Given the description of an element on the screen output the (x, y) to click on. 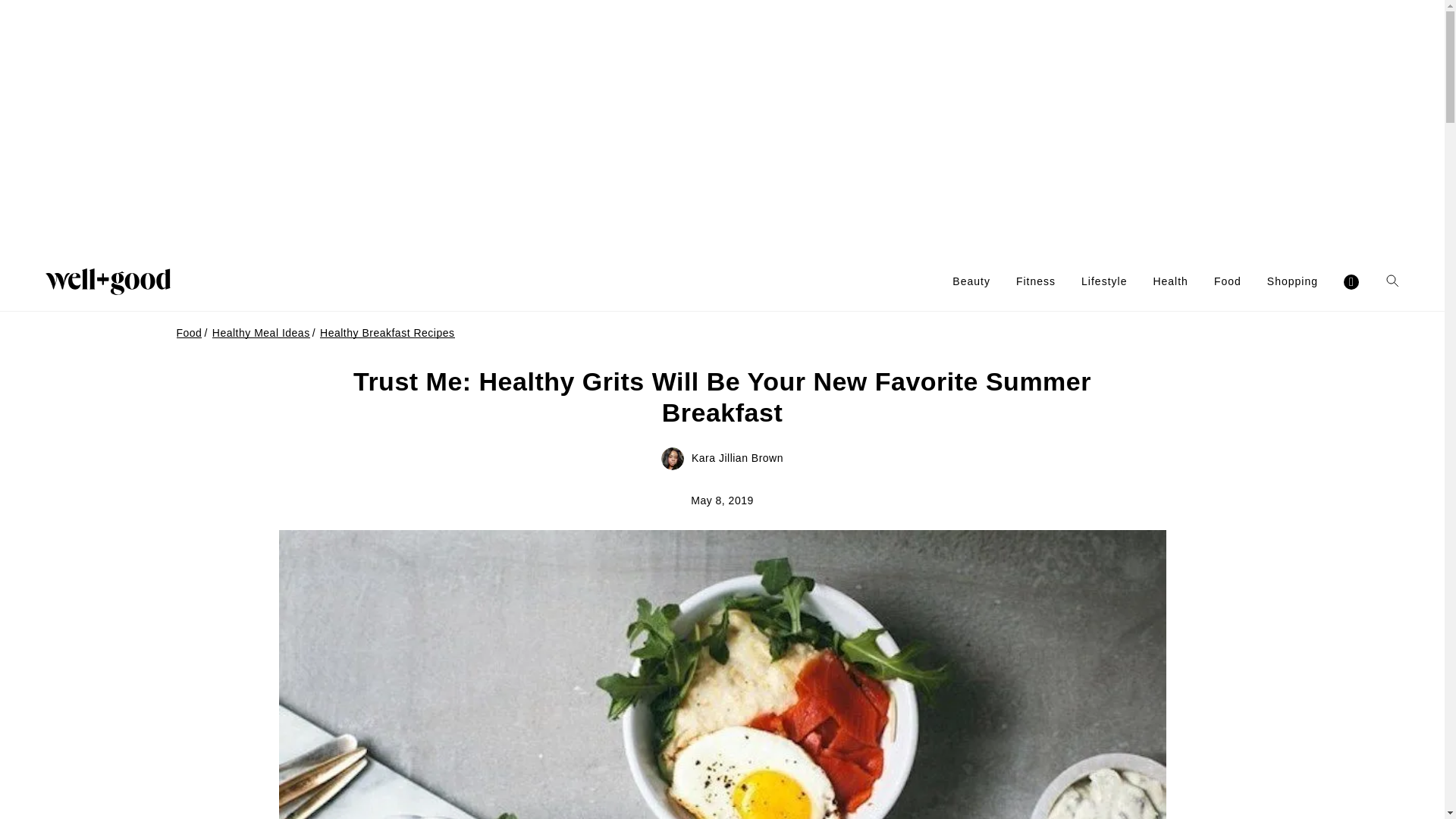
Food (1227, 281)
Shopping (1291, 281)
Fitness (1035, 281)
Health (1170, 281)
Beauty (971, 281)
Lifestyle (1103, 281)
